Given the description of an element on the screen output the (x, y) to click on. 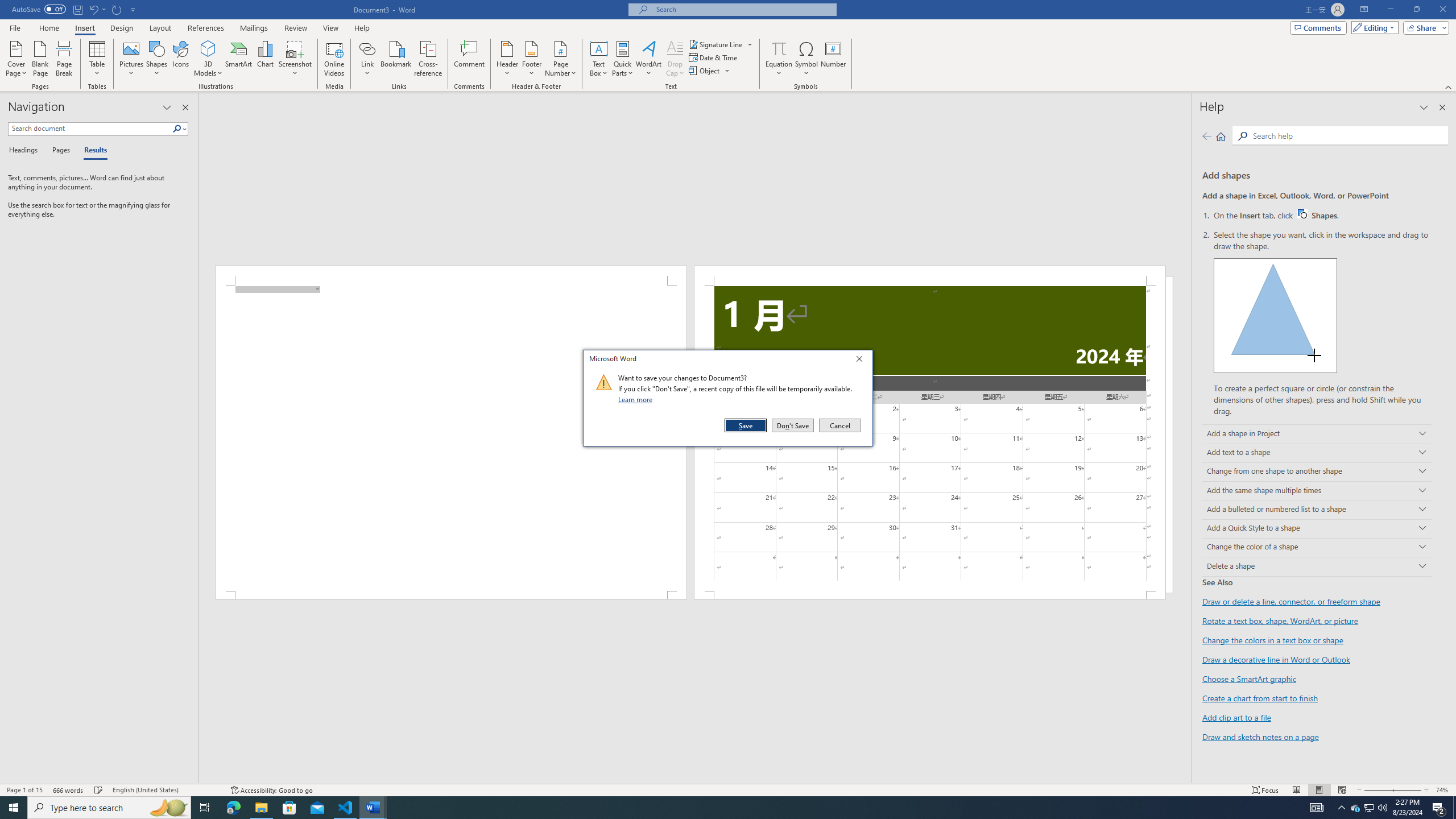
Running applications (717, 807)
Notification Chevron (1341, 807)
Comments (1318, 27)
Drop Cap (674, 58)
Table (97, 58)
Show desktop (1454, 807)
Date & Time... (714, 56)
Learn more (636, 399)
Icons (180, 58)
Zoom Out (1373, 790)
Equation (778, 48)
Design (122, 28)
Collapse the Ribbon (1448, 86)
Close (862, 360)
Word Count 666 words (68, 790)
